Given the description of an element on the screen output the (x, y) to click on. 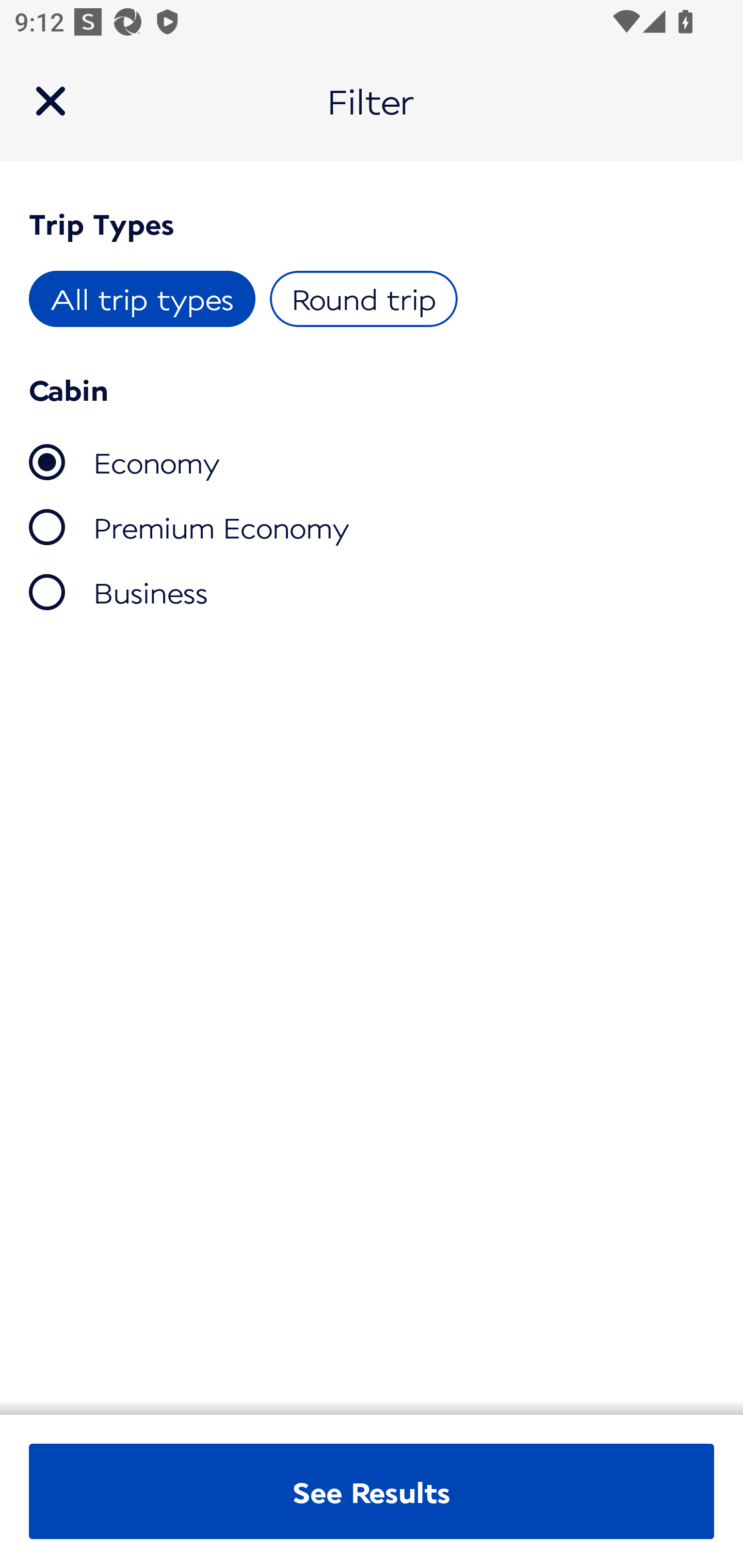
All trip types (141, 298)
Round trip (363, 298)
See Results (371, 1491)
